Given the description of an element on the screen output the (x, y) to click on. 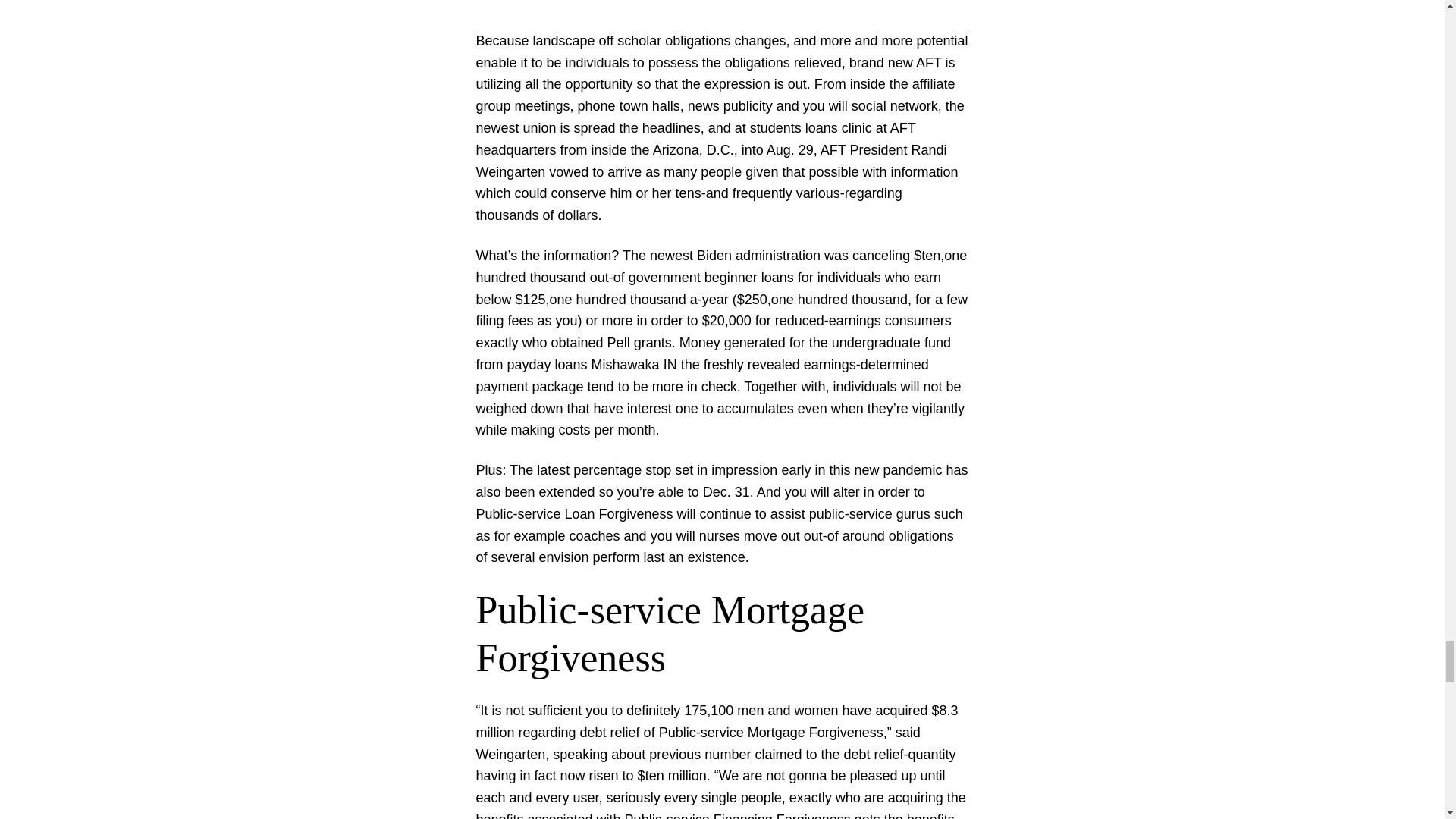
payday loans Mishawaka IN (591, 364)
